Given the description of an element on the screen output the (x, y) to click on. 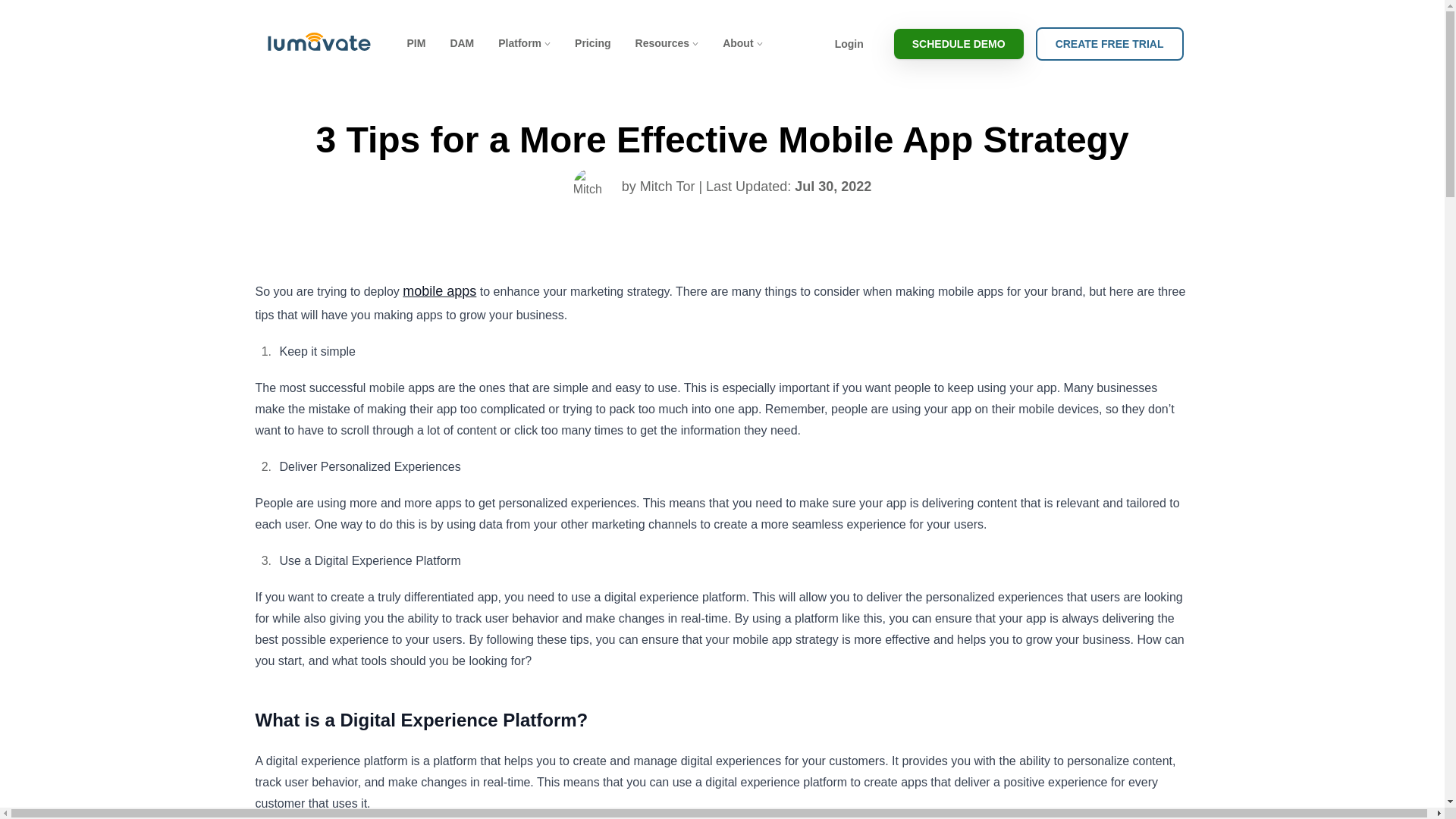
SCHEDULE DEMO (958, 43)
CREATE FREE TRIAL (1109, 43)
Pricing (592, 44)
Login (849, 43)
